Given the description of an element on the screen output the (x, y) to click on. 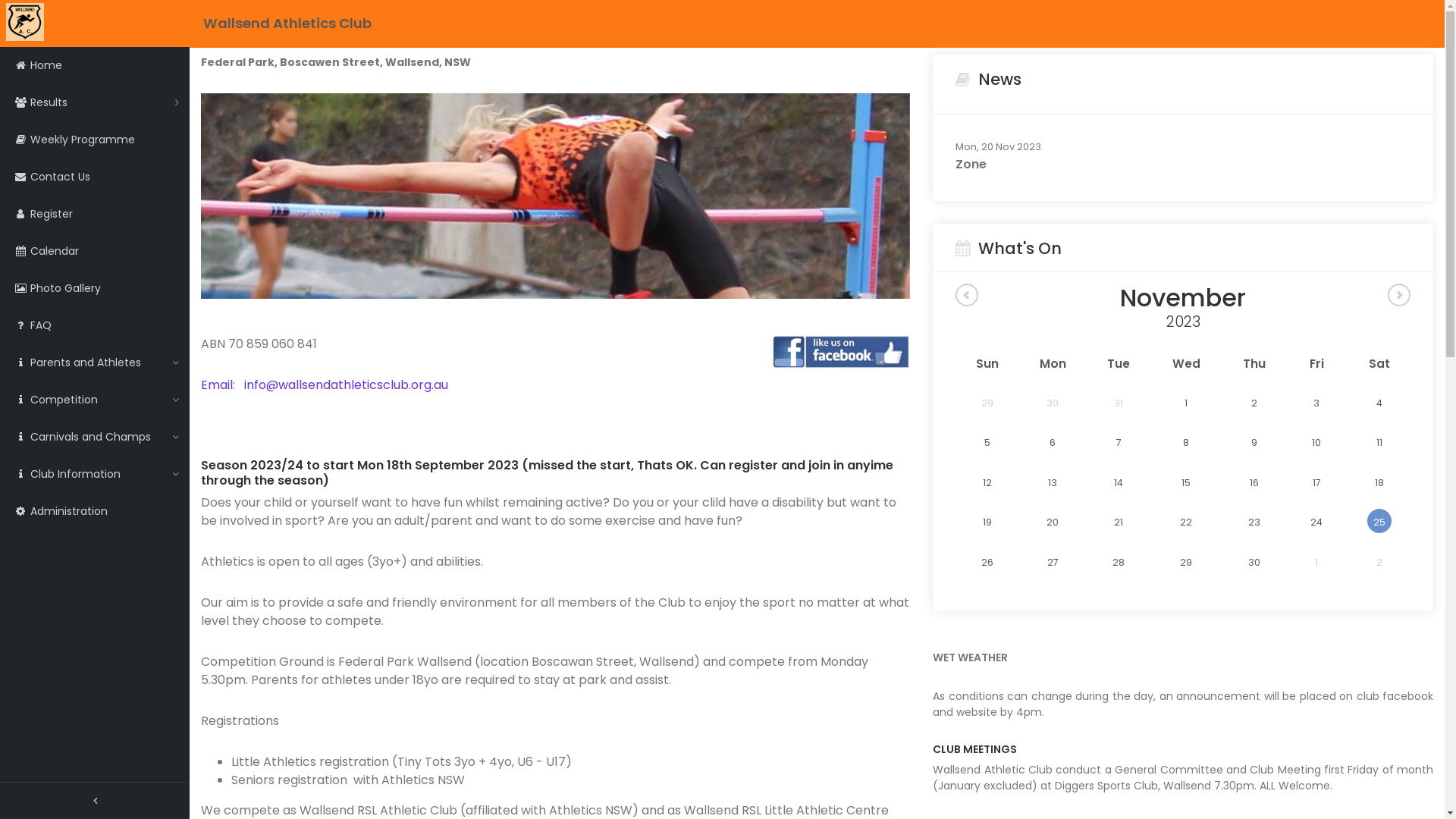
Weekly Programme Element type: text (94, 139)
FAQ Element type: text (94, 325)
Calendar Element type: text (94, 250)
Club Information Element type: text (94, 473)
Contact Us Element type: text (94, 176)
Competition Element type: text (94, 399)
Home Element type: text (94, 65)
Administration Element type: text (94, 511)
Results Element type: text (94, 102)
Photo Gallery Element type: text (94, 288)
Parents and Athletes Element type: text (94, 362)
Carnivals and Champs Element type: text (94, 436)
Register Element type: text (94, 213)
